Given the description of an element on the screen output the (x, y) to click on. 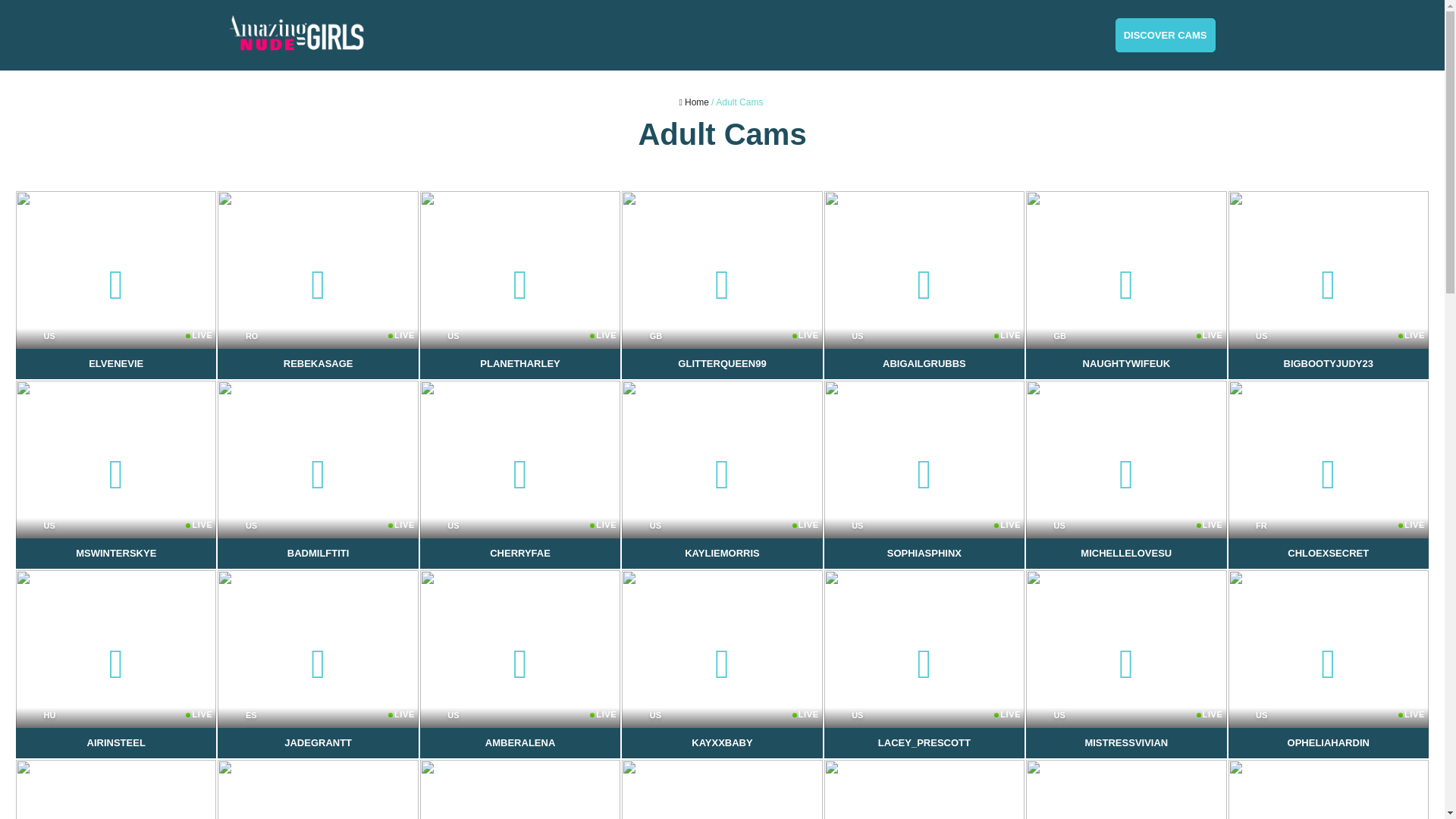
Home (721, 474)
